Given the description of an element on the screen output the (x, y) to click on. 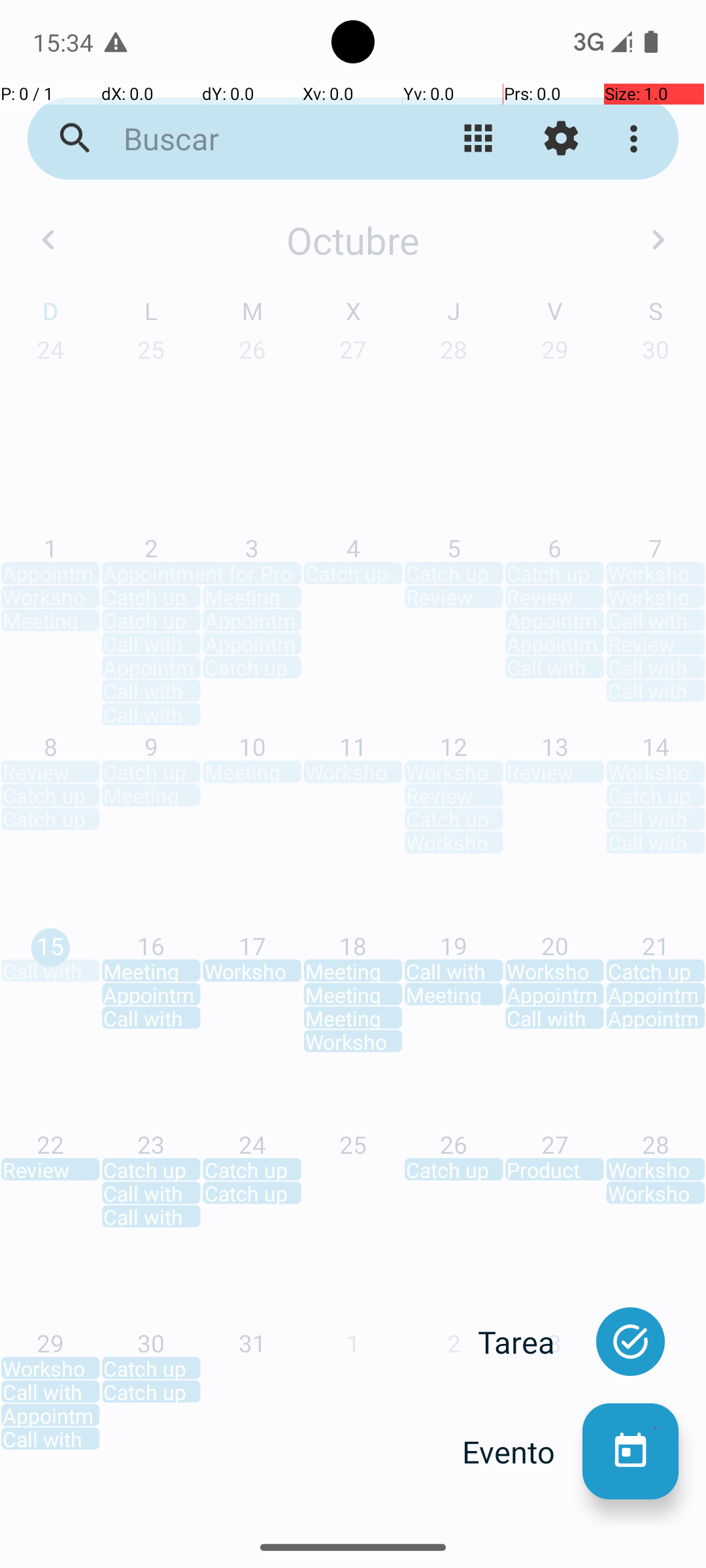
Tarea Element type: android.widget.TextView (529, 1341)
Evento Element type: android.widget.TextView (522, 1451)
